Given the description of an element on the screen output the (x, y) to click on. 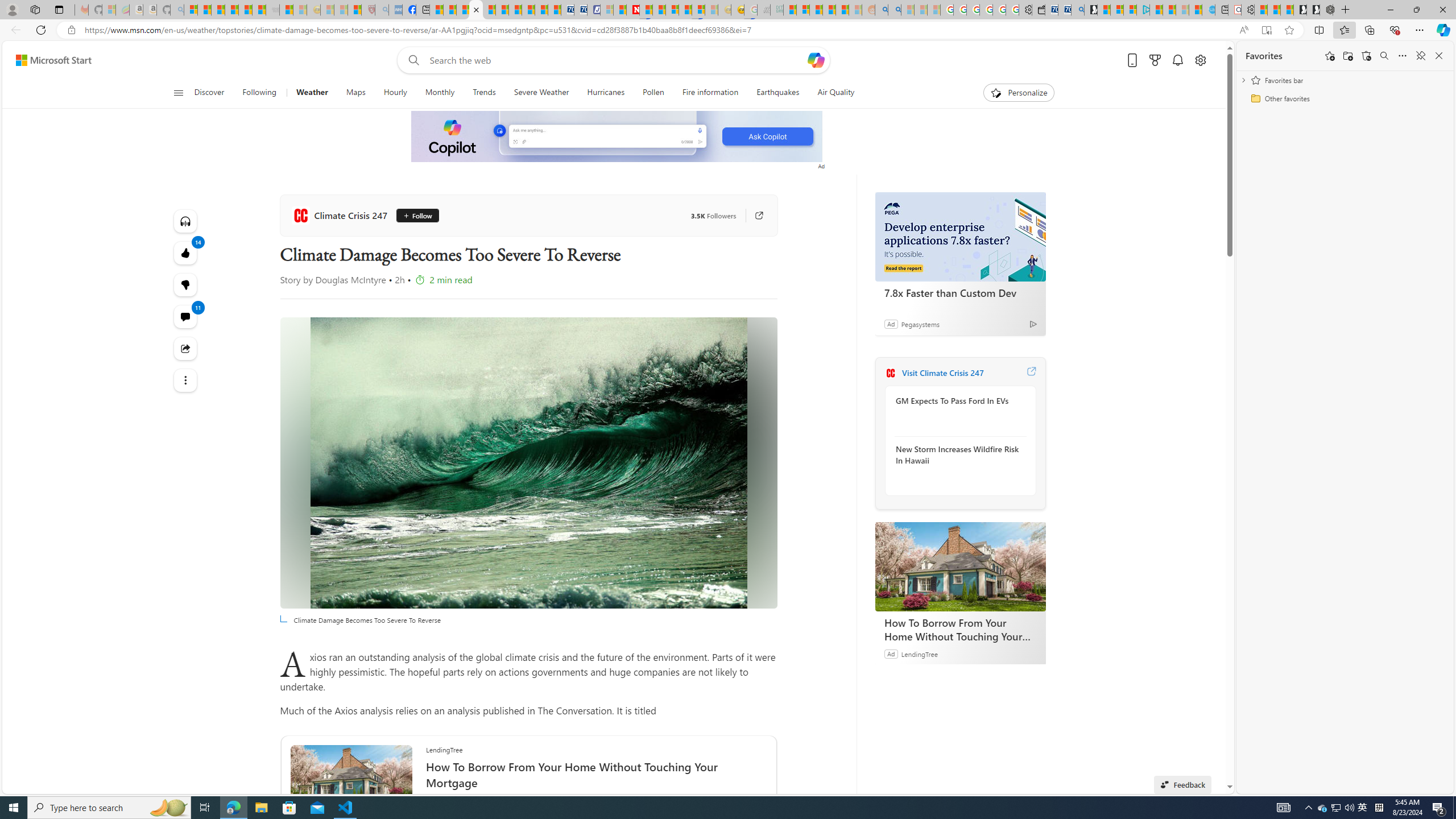
View comments 11 Comment (184, 316)
14 Like (184, 252)
Student Loan Update: Forgiveness Program Ends This Month (842, 9)
Listen to this article (184, 220)
Air Quality (835, 92)
Fire information (709, 92)
Utah sues federal government - Search (894, 9)
Add folder (1347, 55)
The Weather Channel - MSN (218, 9)
Class: at-item (184, 380)
